Given the description of an element on the screen output the (x, y) to click on. 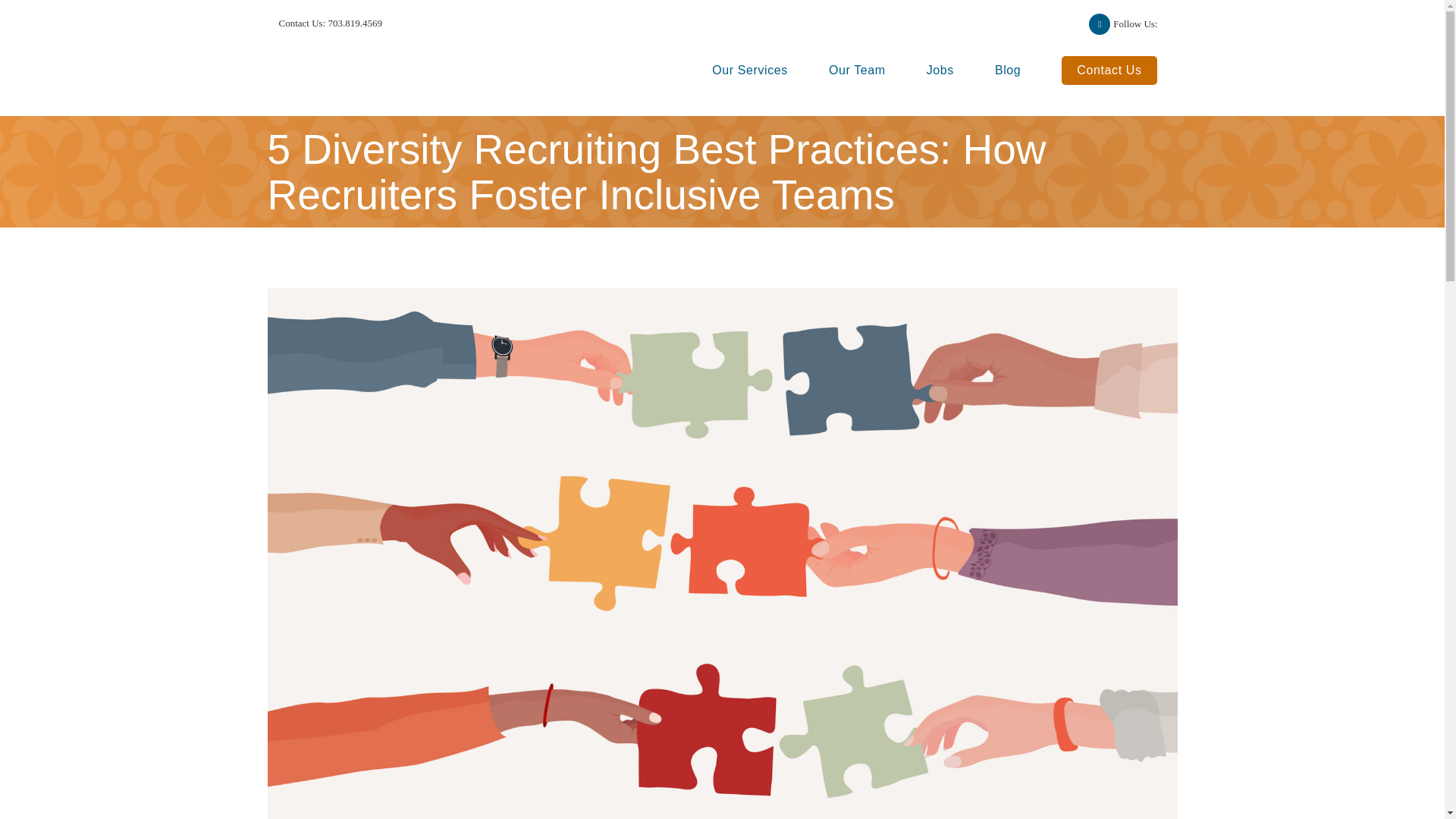
703.819.4569 (354, 22)
Contact Us (1108, 70)
Our Team (856, 70)
Our Services (749, 70)
